Given the description of an element on the screen output the (x, y) to click on. 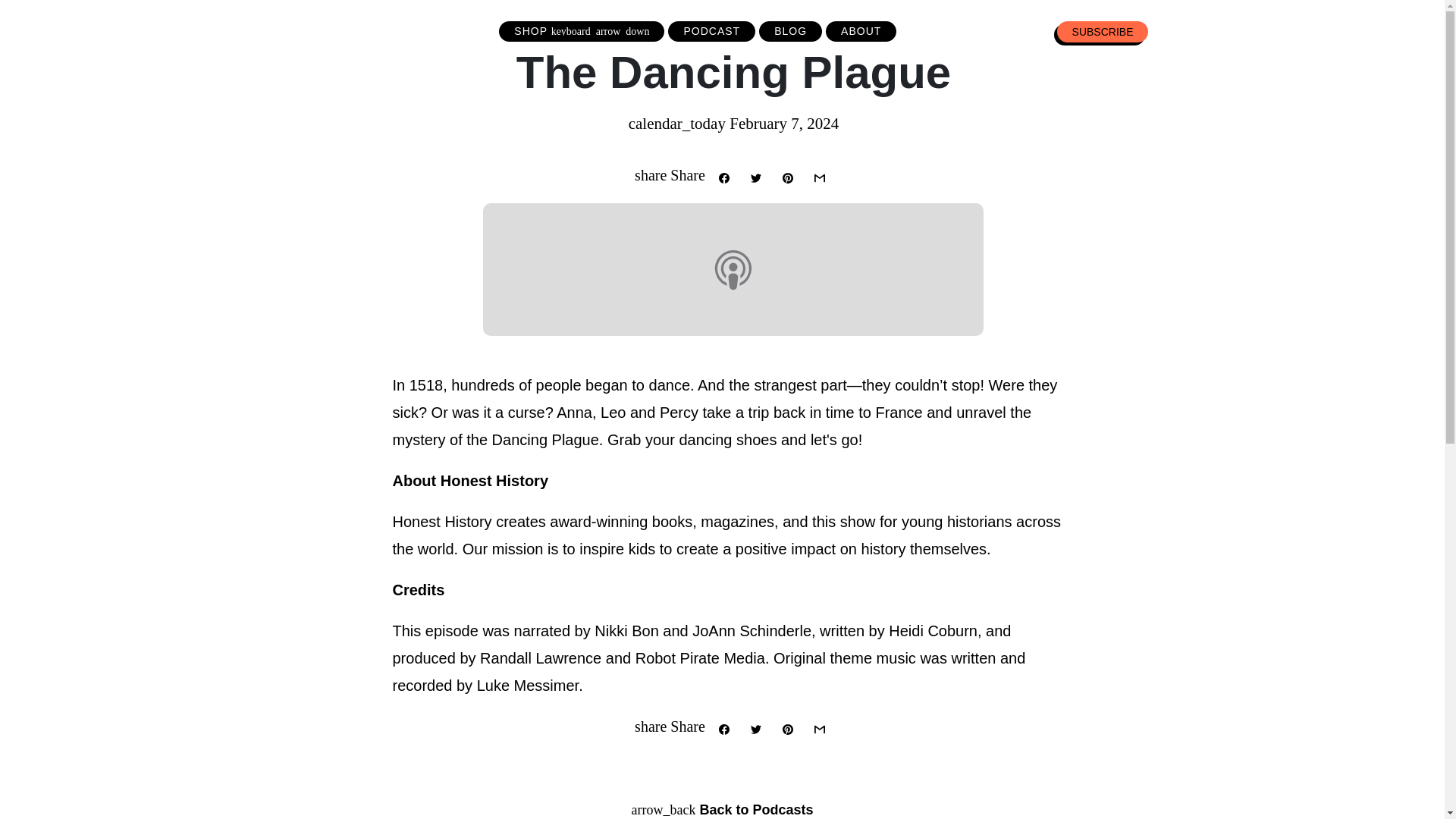
Log In (1215, 29)
Share on Facebook (723, 176)
Cart (1377, 29)
Tweet on Twitter (756, 728)
Share on Facebook (723, 728)
Tweet on Twitter (756, 176)
SUBSCRIBE (1102, 31)
Search (1303, 29)
Pin on Pinterest (788, 176)
